Given the description of an element on the screen output the (x, y) to click on. 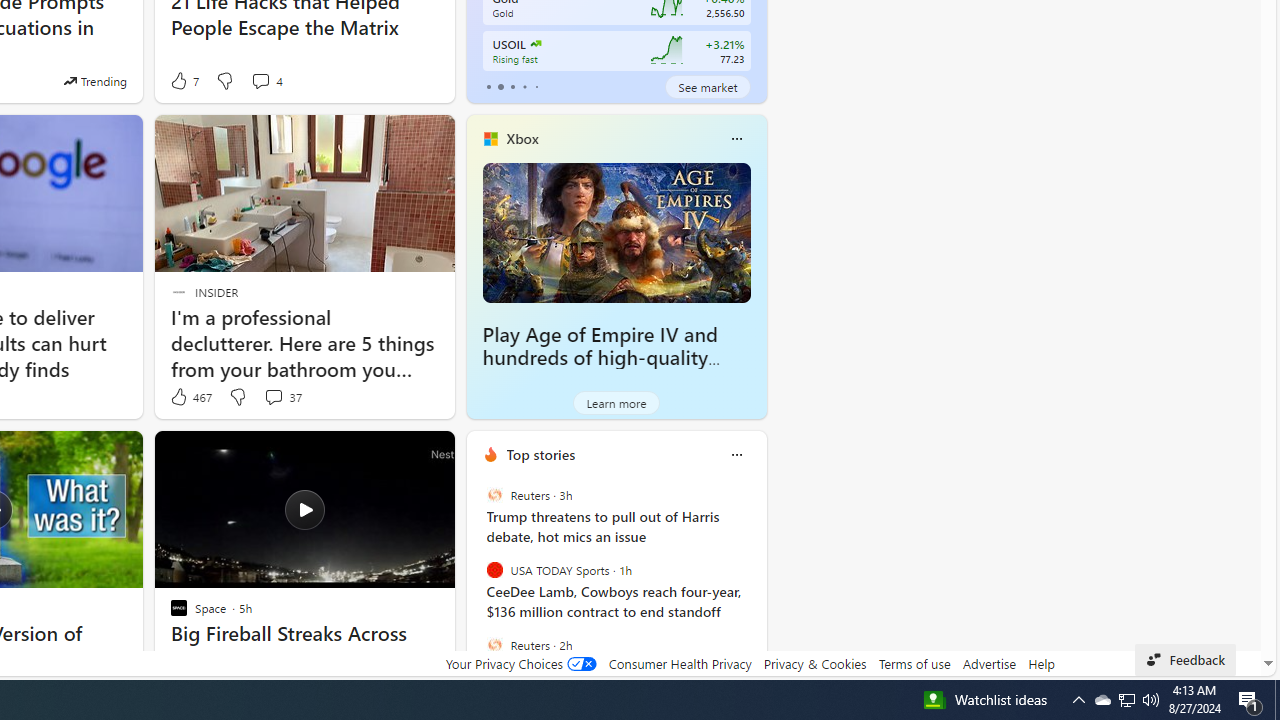
next (756, 583)
Dislike (237, 397)
More options (736, 454)
View comments 37 Comment (281, 397)
Help (1040, 663)
Hide this story (393, 454)
Learn more (616, 402)
Reuters (494, 644)
Consumer Health Privacy (680, 663)
USA TODAY Sports (494, 570)
tab-2 (511, 86)
Privacy & Cookies (814, 663)
